Given the description of an element on the screen output the (x, y) to click on. 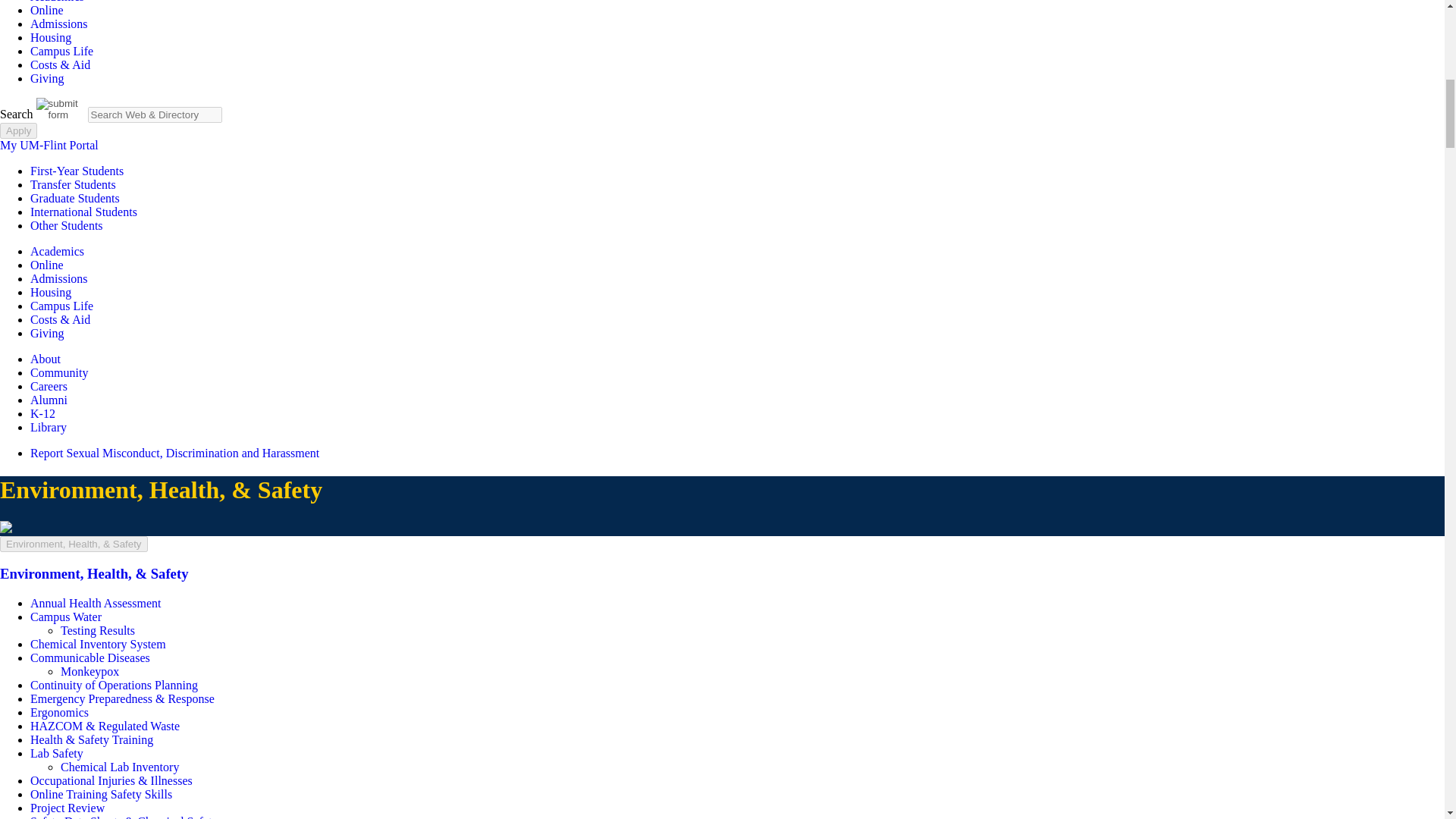
Housing (50, 37)
Academics (57, 1)
Academics (57, 1)
Admissions (58, 23)
Housing (50, 37)
Campus Life (61, 51)
Campus Life (61, 51)
Admissions (58, 23)
Online (47, 10)
Online (47, 10)
